Given the description of an element on the screen output the (x, y) to click on. 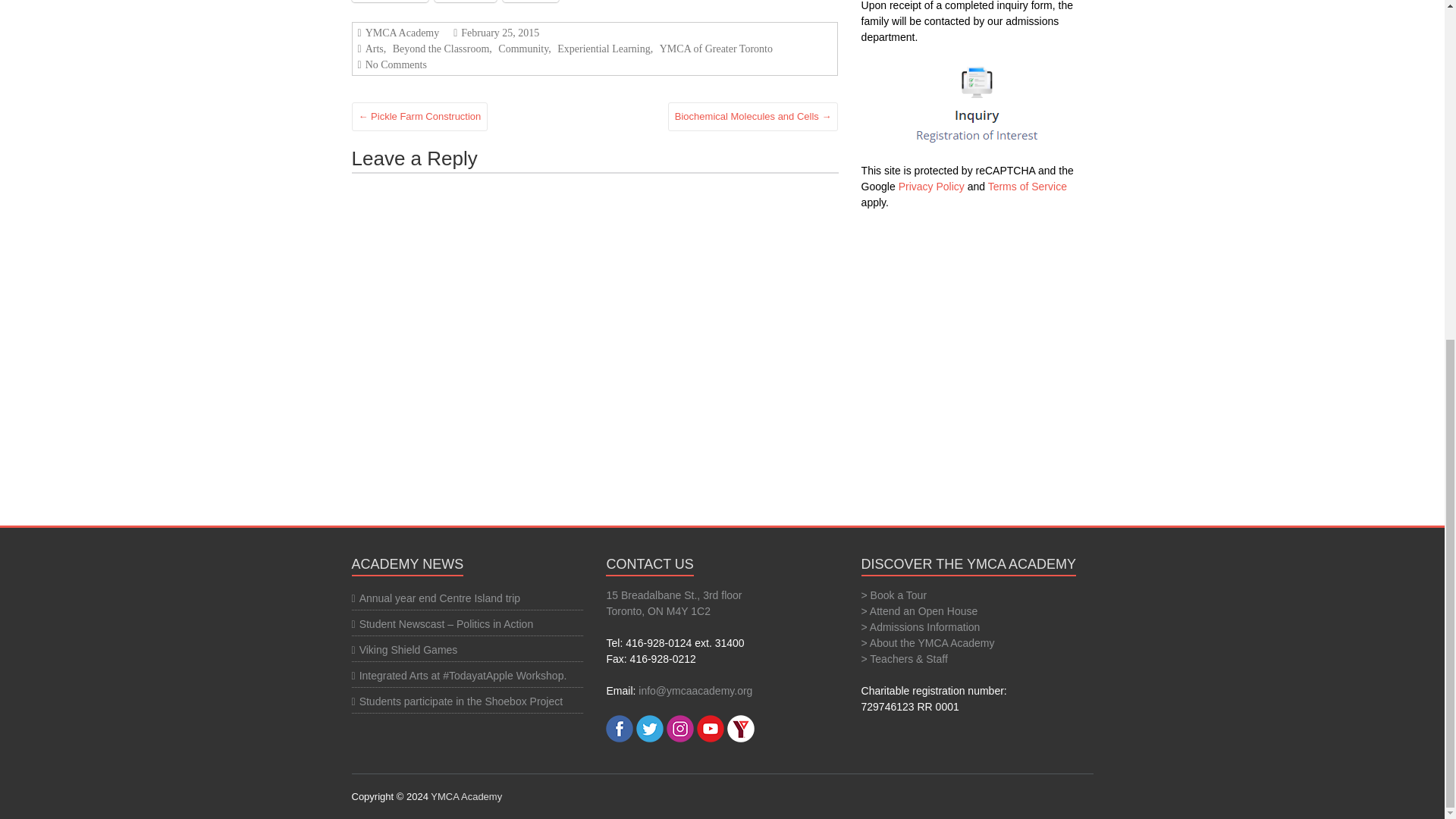
More (530, 1)
3:16 pm (497, 32)
Click to share on Facebook (390, 1)
Click to share on Twitter (464, 1)
Facebook (390, 1)
Twitter (464, 1)
YMCA Academy (466, 796)
